Given the description of an element on the screen output the (x, y) to click on. 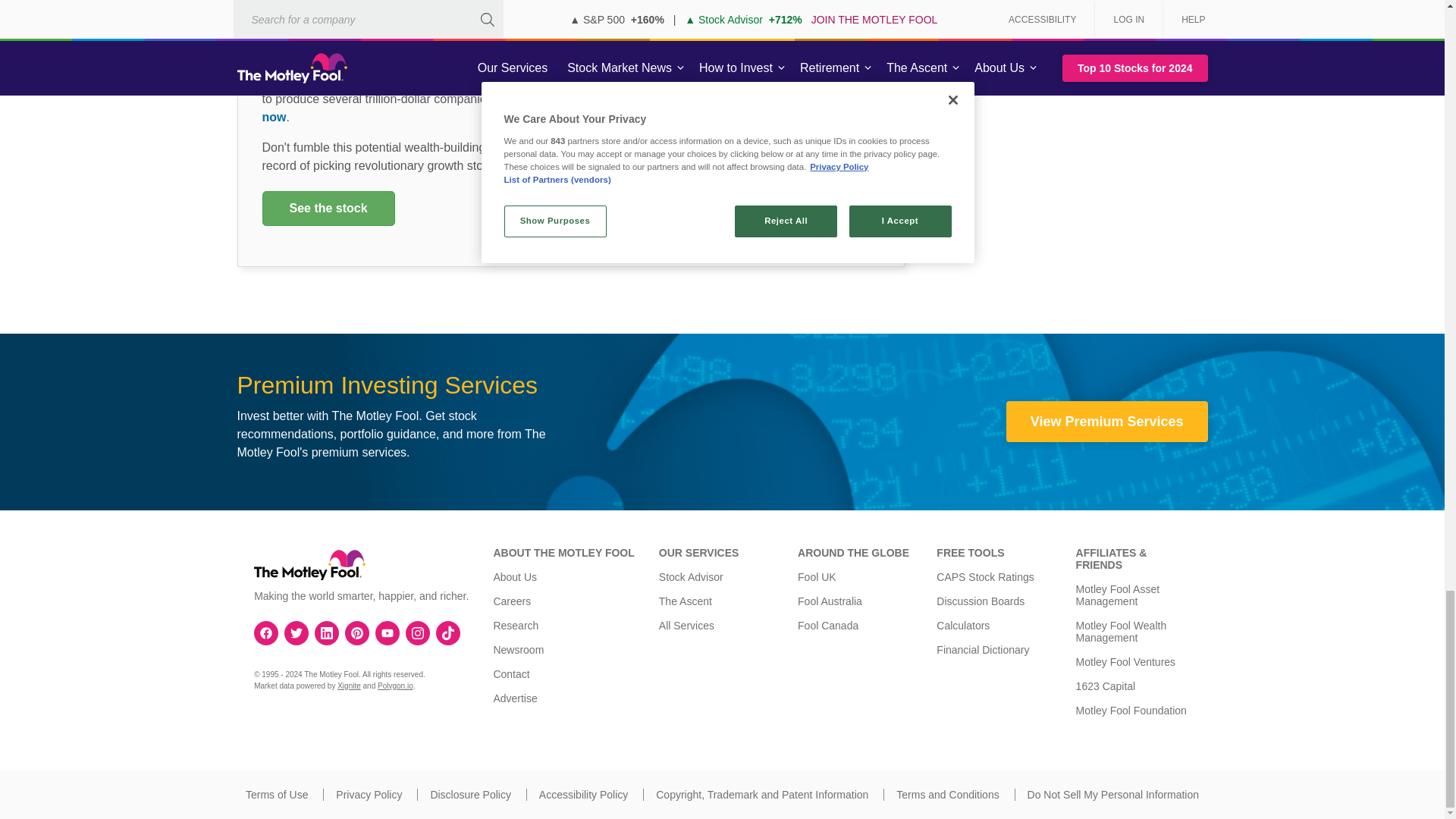
Copyright, Trademark and Patent Information (761, 794)
Accessibility Policy (582, 794)
Privacy Policy (368, 794)
Do Not Sell My Personal Information. (1112, 794)
Terms and Conditions (947, 794)
Terms of Use (276, 794)
Disclosure Policy (470, 794)
